Given the description of an element on the screen output the (x, y) to click on. 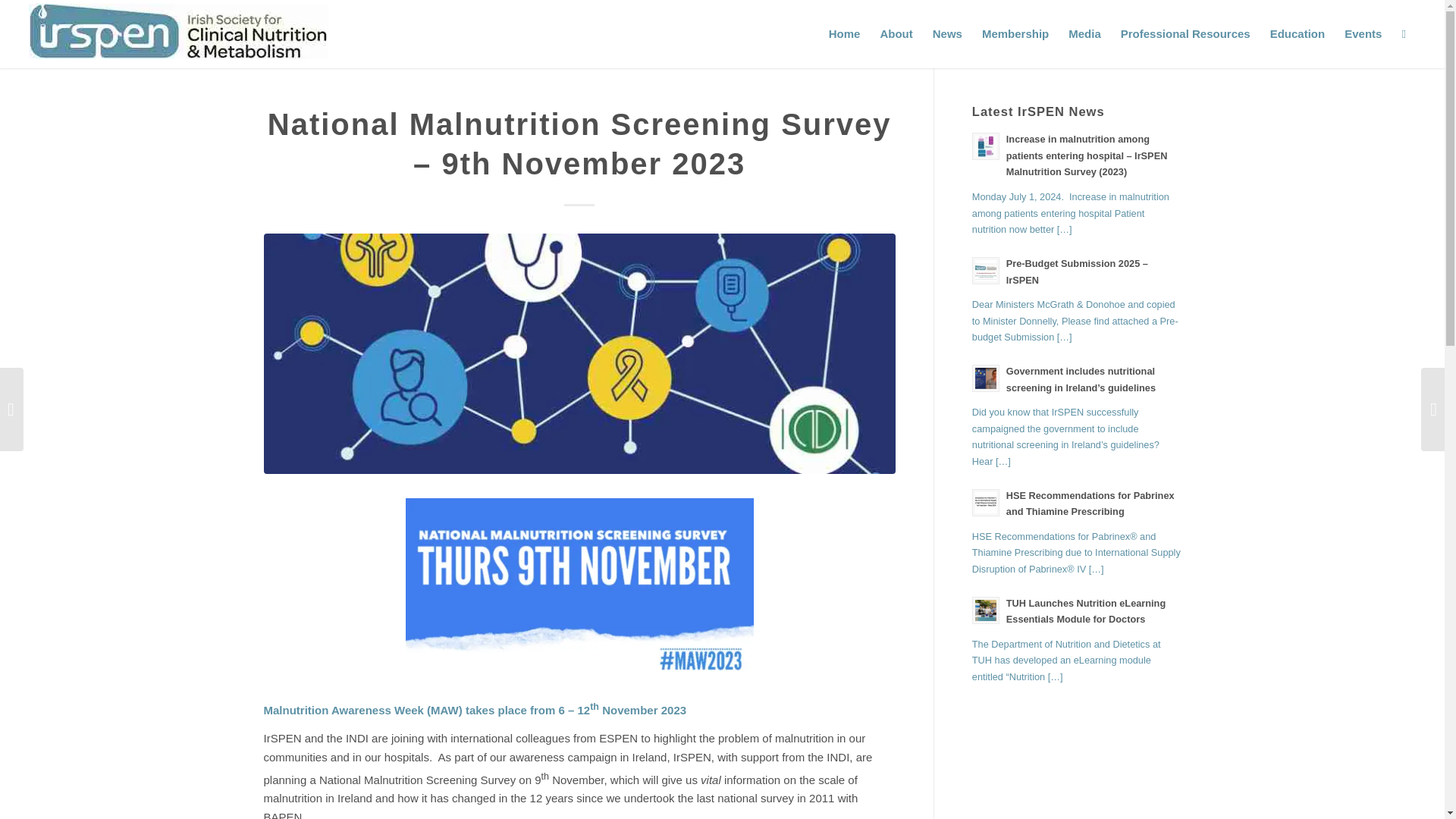
About (895, 33)
irspen-logo (179, 35)
Home (844, 33)
irspen-logo (179, 31)
Professional Resources (1185, 33)
Events (1363, 33)
Media (1084, 33)
Education (1297, 33)
Membership (1015, 33)
News (947, 33)
